Given the description of an element on the screen output the (x, y) to click on. 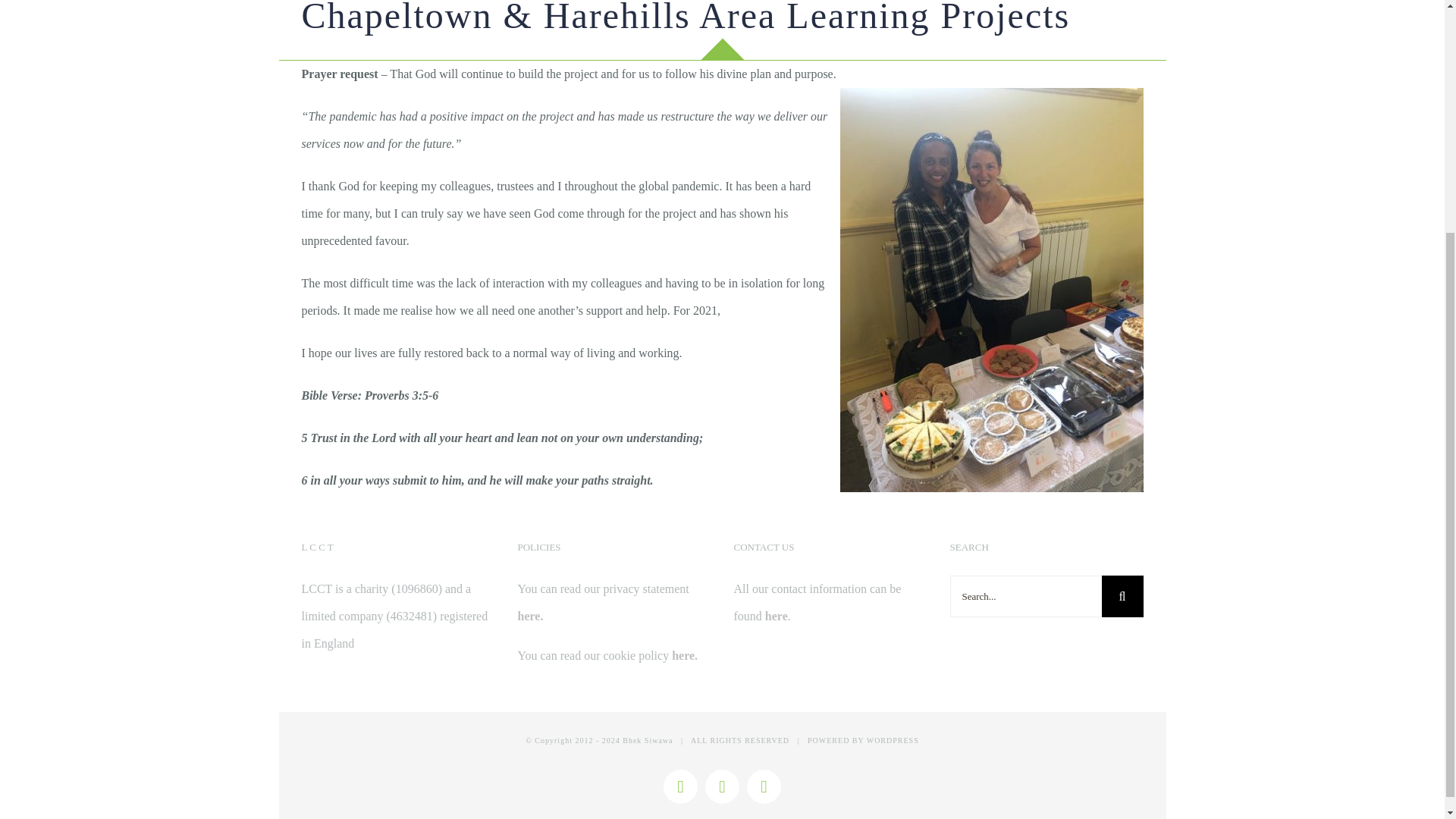
Instagram (721, 786)
Twitter (763, 786)
Facebook (680, 786)
